Given the description of an element on the screen output the (x, y) to click on. 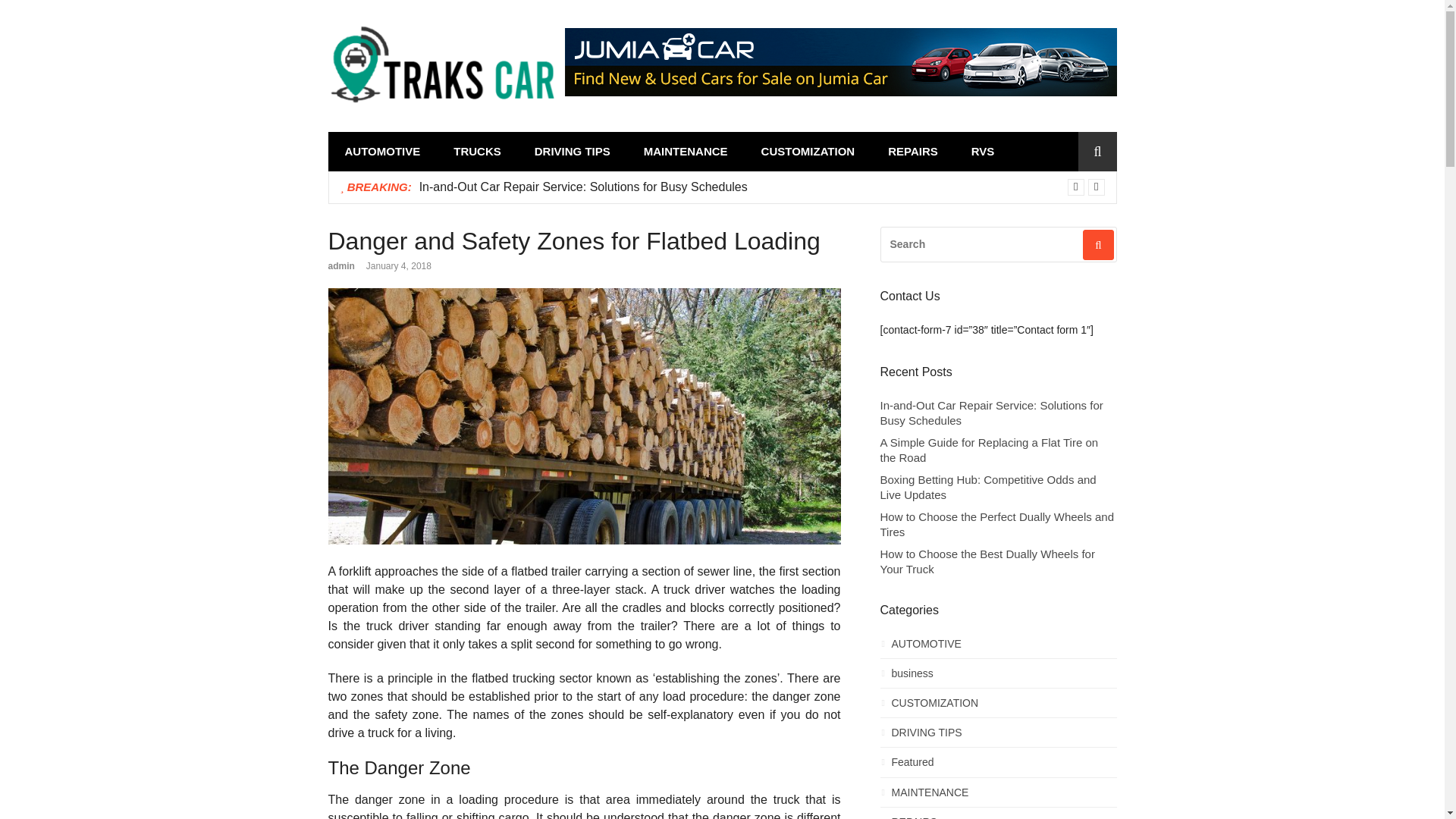
How to Choose the Best Dually Wheels for Your Truck (997, 561)
RVS (983, 151)
MAINTENANCE (685, 151)
CUSTOMIZATION (808, 151)
CUSTOMIZATION (997, 707)
How to Choose the Perfect Dually Wheels and Tires (997, 523)
AUTOMOTIVE (381, 151)
In-and-Out Car Repair Service: Solutions for Busy Schedules (583, 186)
In-and-Out Car Repair Service: Solutions for Busy Schedules (997, 412)
Featured (997, 766)
business (997, 677)
A Simple Guide for Replacing a Flat Tire on the Road (997, 449)
In-and-Out Car Repair Service: Solutions for Busy Schedules (583, 186)
Boxing Betting Hub: Competitive Odds and Live Updates (997, 487)
AUTOMOTIVE (997, 648)
